Given the description of an element on the screen output the (x, y) to click on. 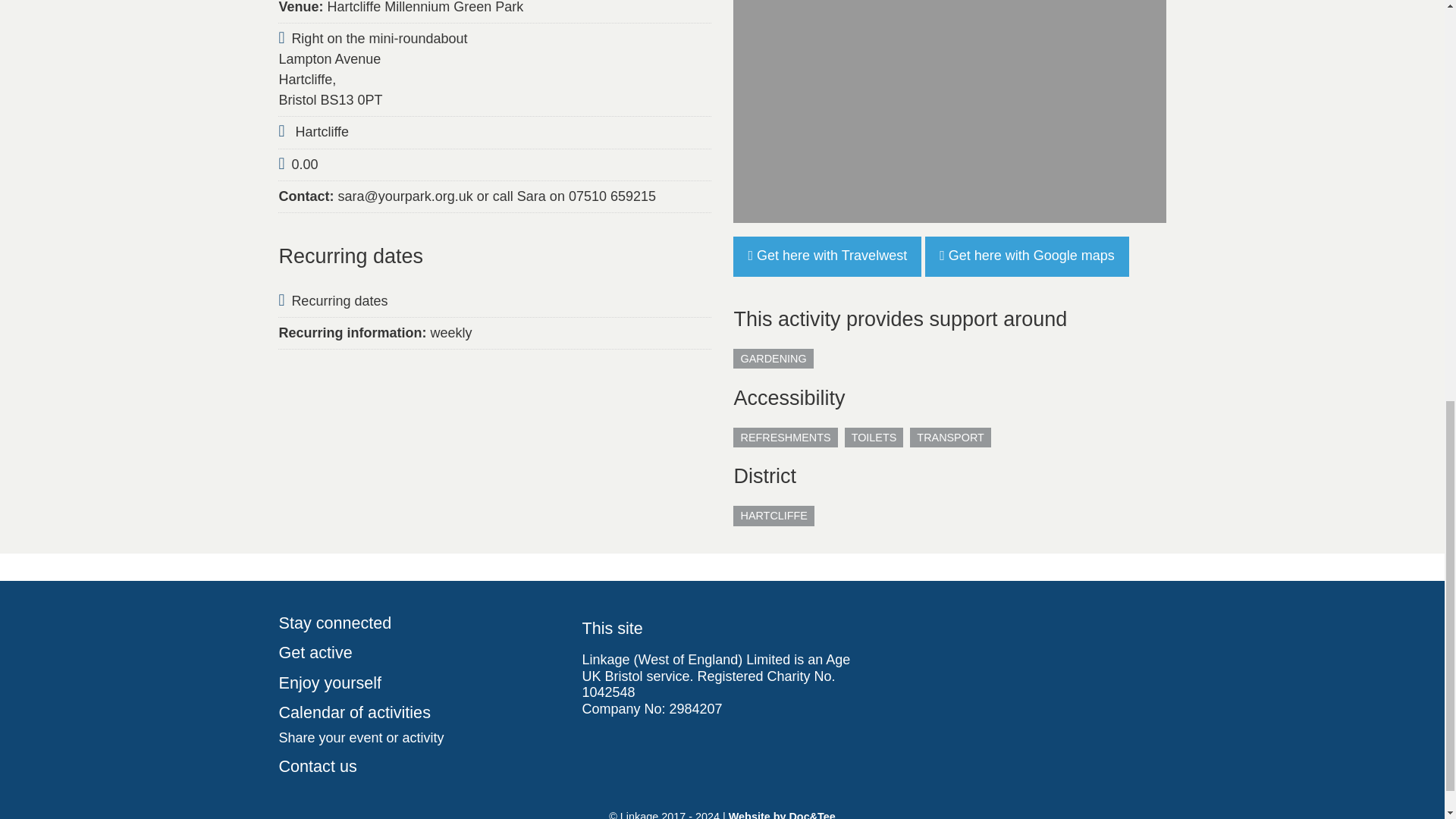
Contact us (418, 766)
Stay connected (418, 623)
Get active (418, 653)
Calendar of activities (418, 712)
Share your event or activity (418, 738)
Enjoy yourself (418, 683)
Get here with Google maps (1026, 256)
Get here with Travelwest (827, 256)
